Given the description of an element on the screen output the (x, y) to click on. 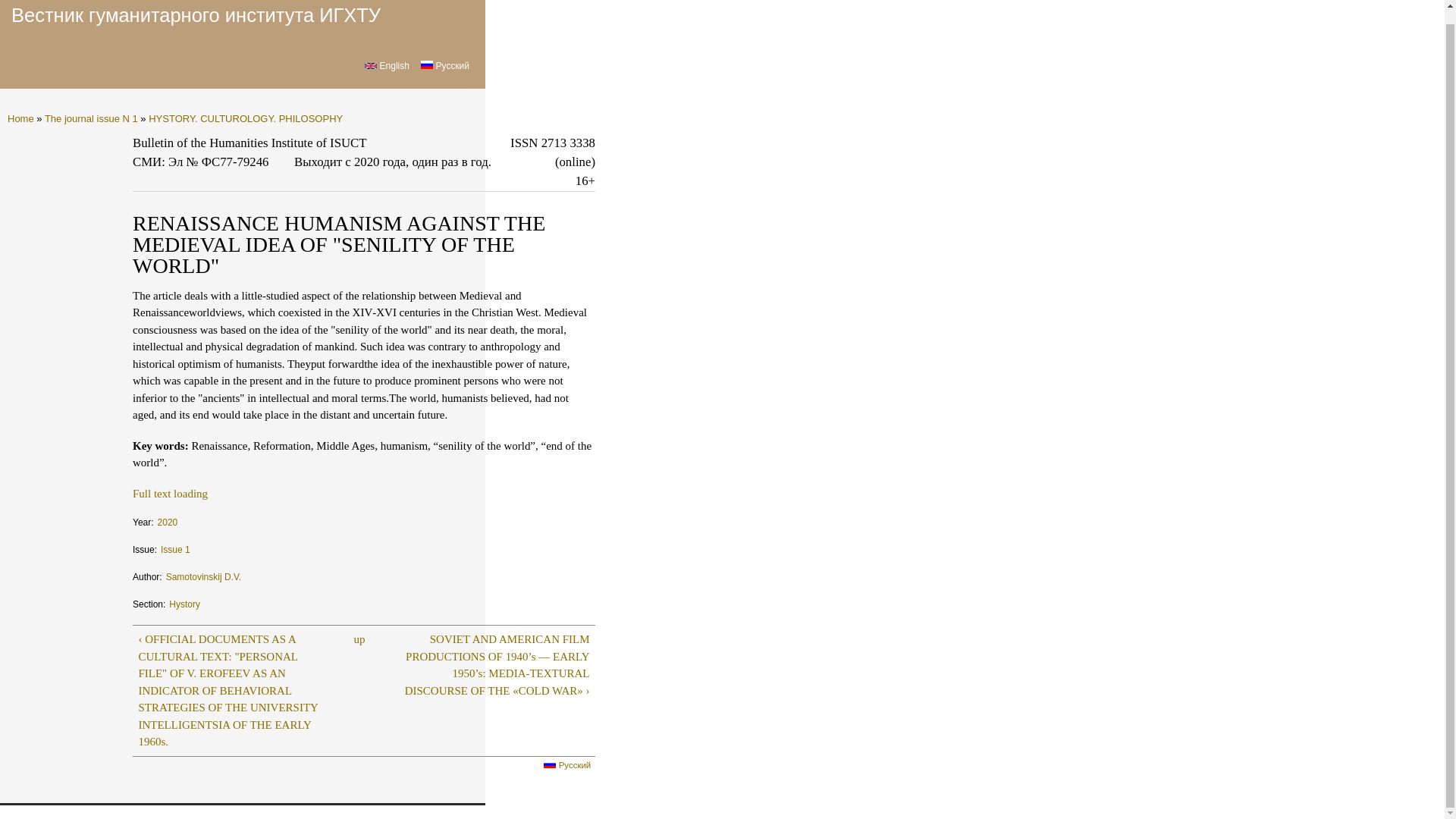
up (359, 639)
Hystory (184, 599)
Home (195, 14)
Samotovinskij D.V. (203, 571)
Full text loading (170, 493)
The journal issue N 1 (91, 117)
Home (20, 117)
Go to next page (494, 664)
Go to parent page (359, 639)
HYSTORY. CULTUROLOGY. PHILOSOPHY (245, 117)
Issue 1 (175, 544)
Go to previous page (232, 690)
English (371, 64)
English (387, 65)
